Given the description of an element on the screen output the (x, y) to click on. 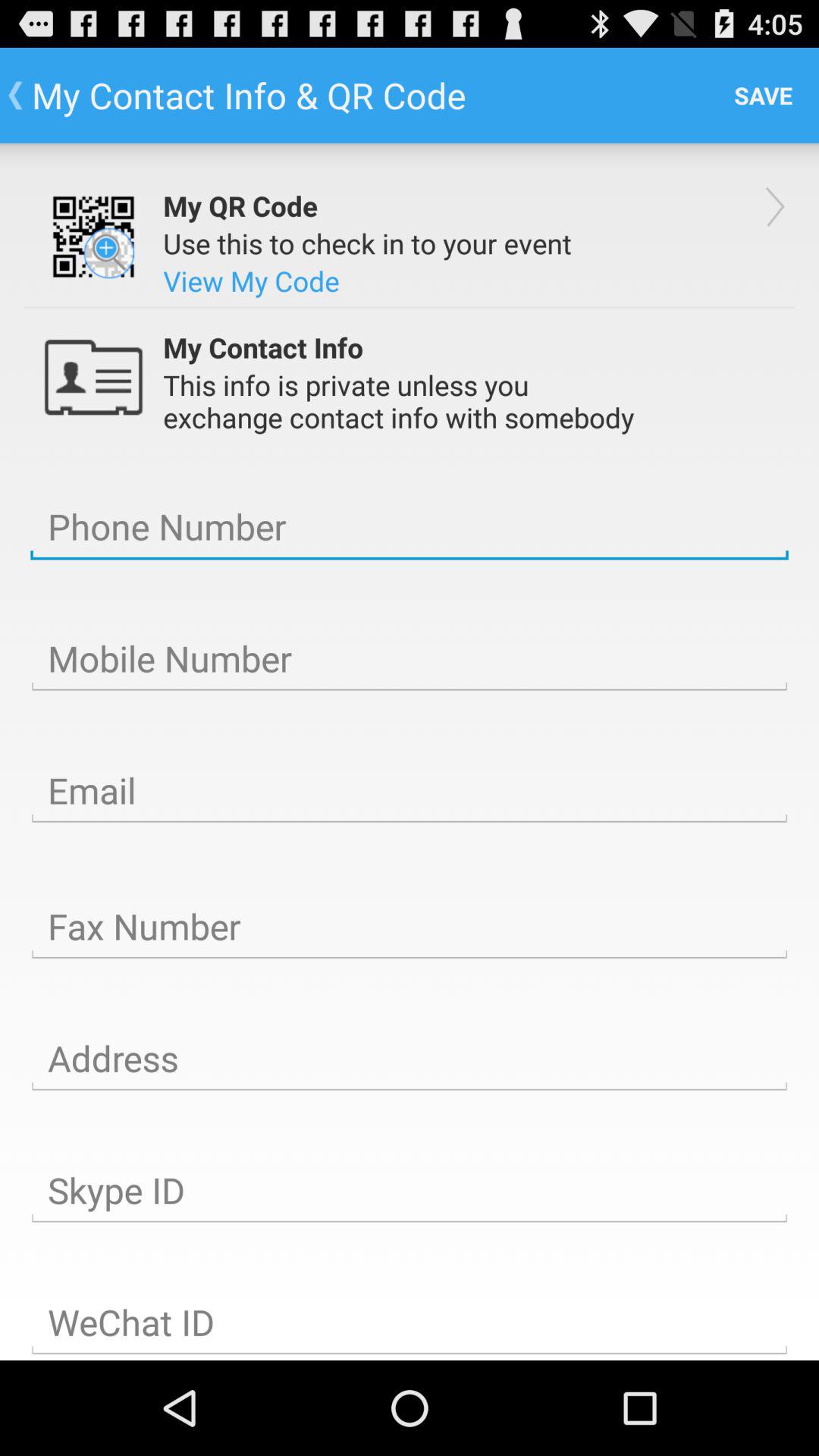
flip until the save (763, 95)
